Given the description of an element on the screen output the (x, y) to click on. 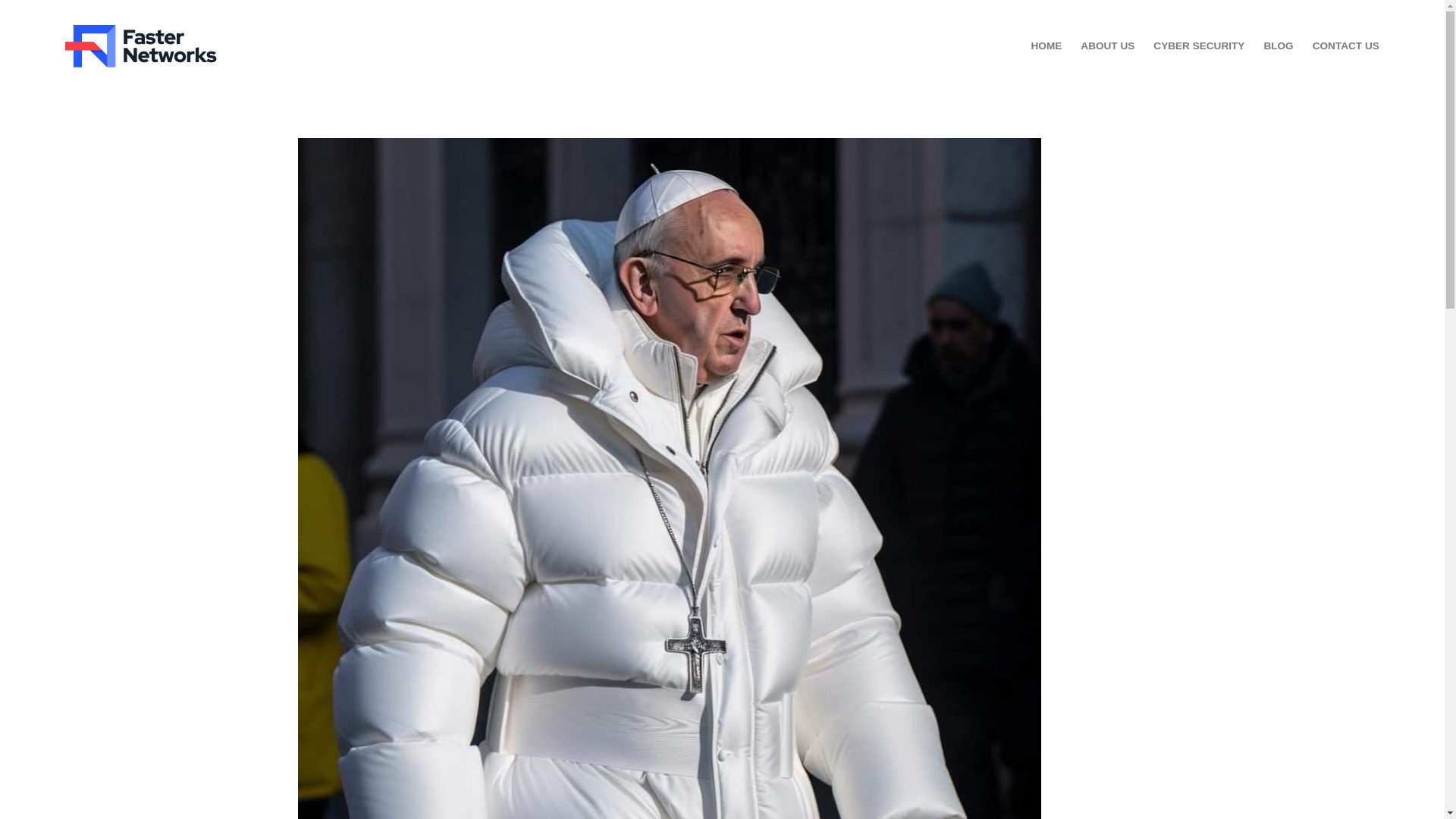
ABOUT US (1107, 45)
CYBER SECURITY (1198, 45)
CONTACT US (1345, 45)
HOME (1046, 45)
